Given the description of an element on the screen output the (x, y) to click on. 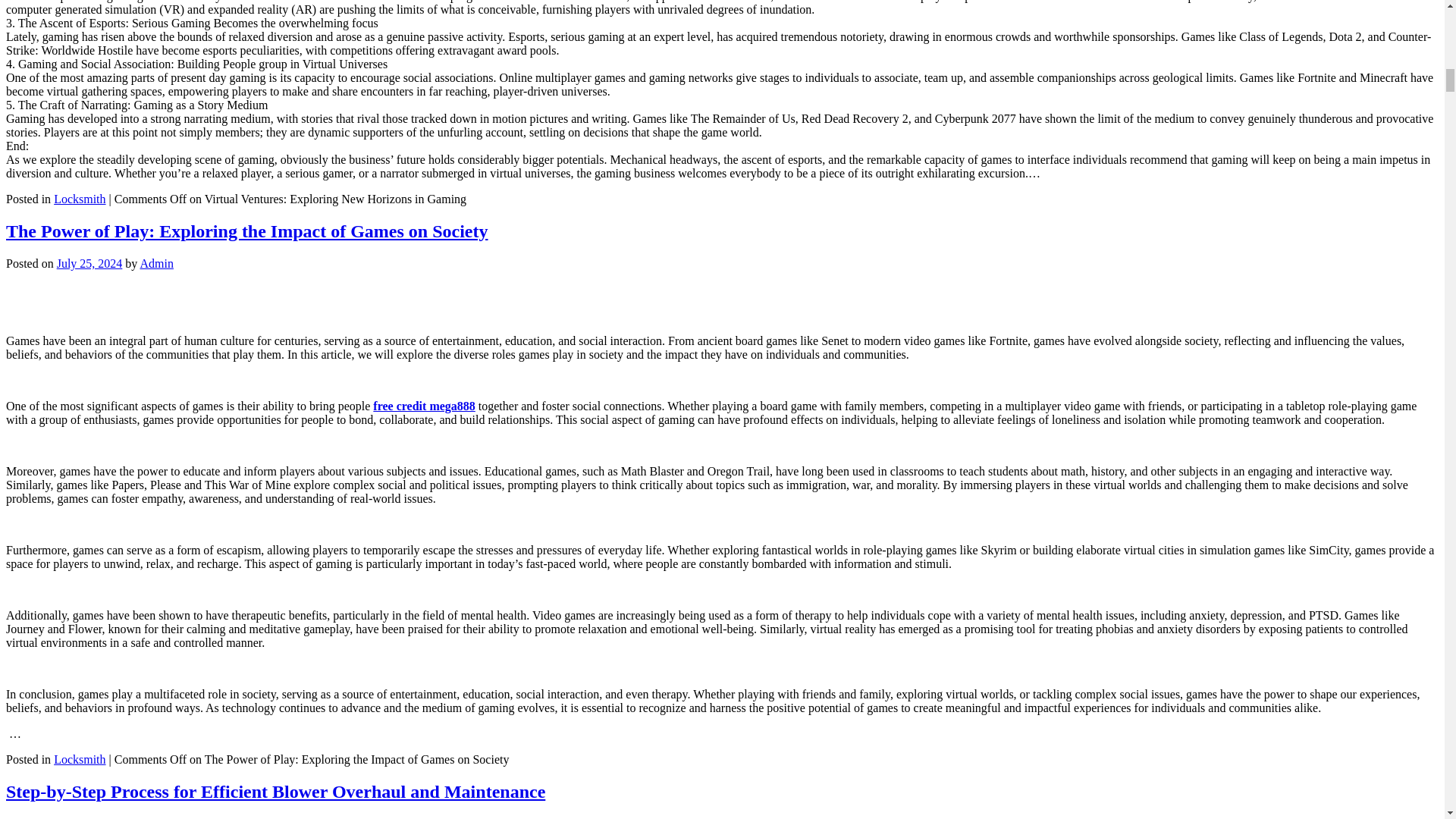
View all posts by Admin (156, 263)
View all posts by Admin (156, 818)
